Given the description of an element on the screen output the (x, y) to click on. 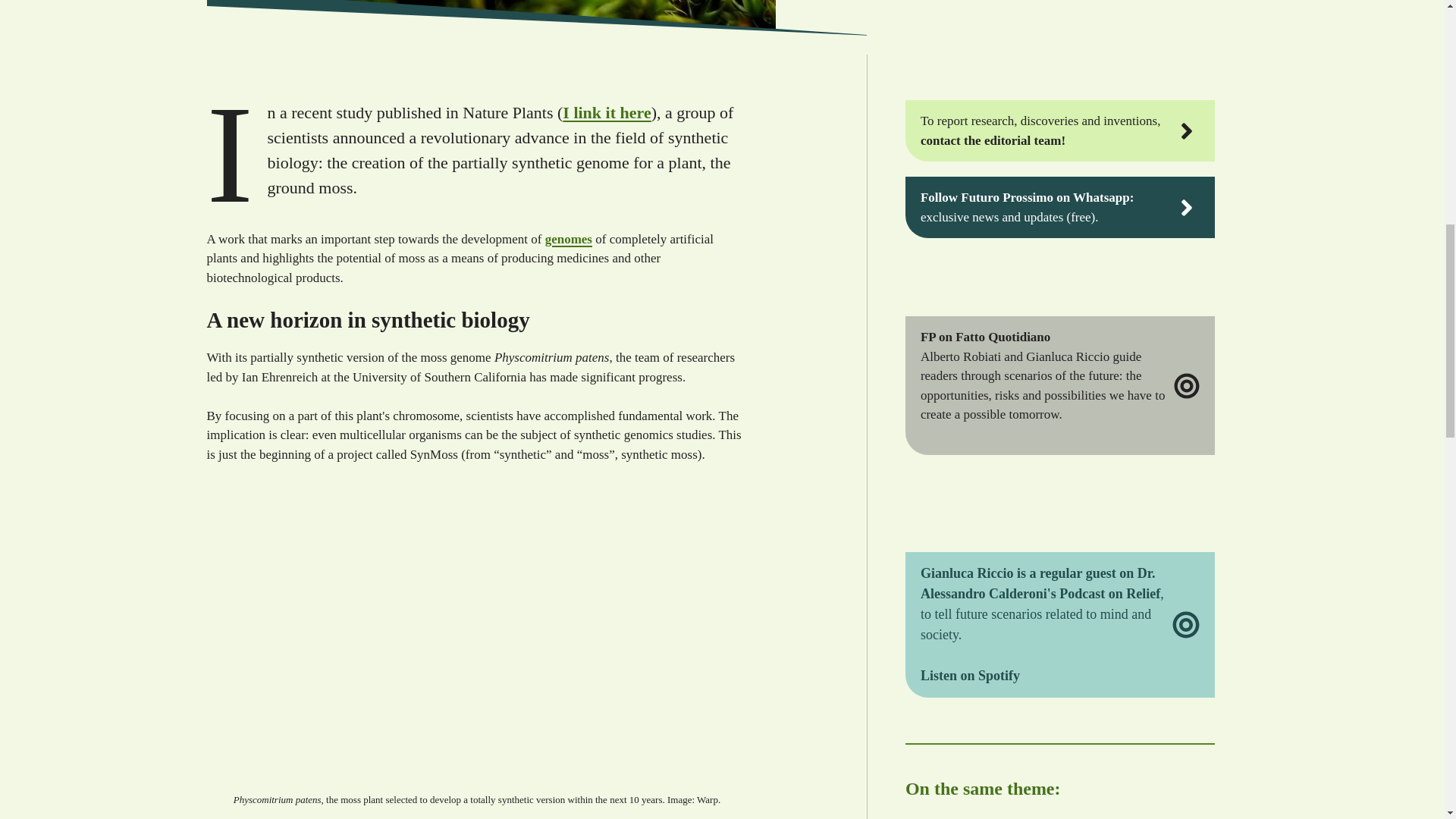
PODCAST (1056, 516)
